Given the description of an element on the screen output the (x, y) to click on. 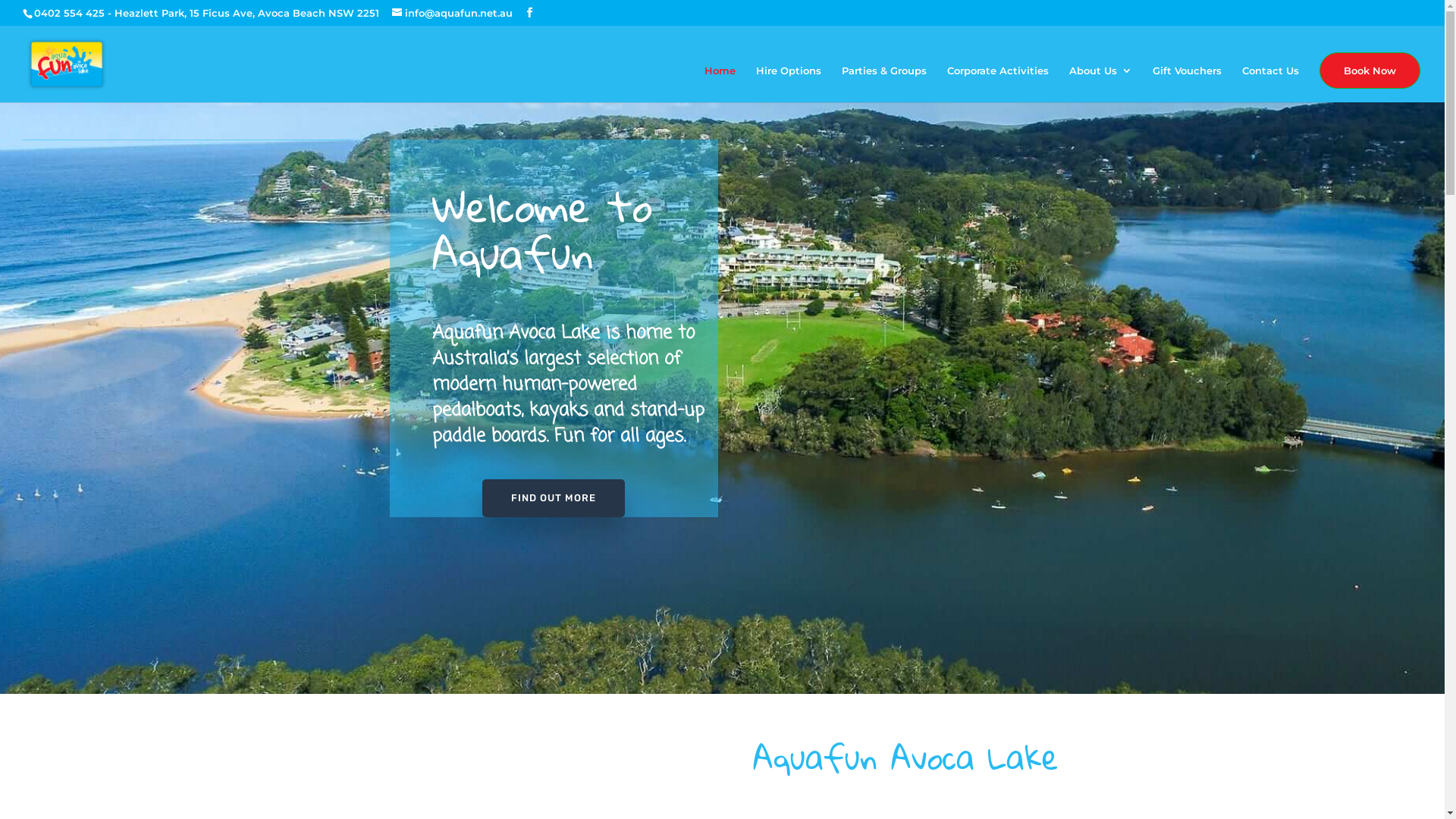
About Us Element type: text (1100, 83)
Gift Vouchers Element type: text (1186, 83)
0402 554 425 Element type: text (69, 12)
Book Now Element type: text (1369, 69)
Corporate Activities Element type: text (997, 83)
info@aquafun.net.au Element type: text (452, 12)
Home Element type: text (719, 83)
Parties & Groups Element type: text (883, 83)
FIND OUT MORE Element type: text (553, 498)
Contact Us Element type: text (1270, 83)
Hire Options Element type: text (788, 83)
